Given the description of an element on the screen output the (x, y) to click on. 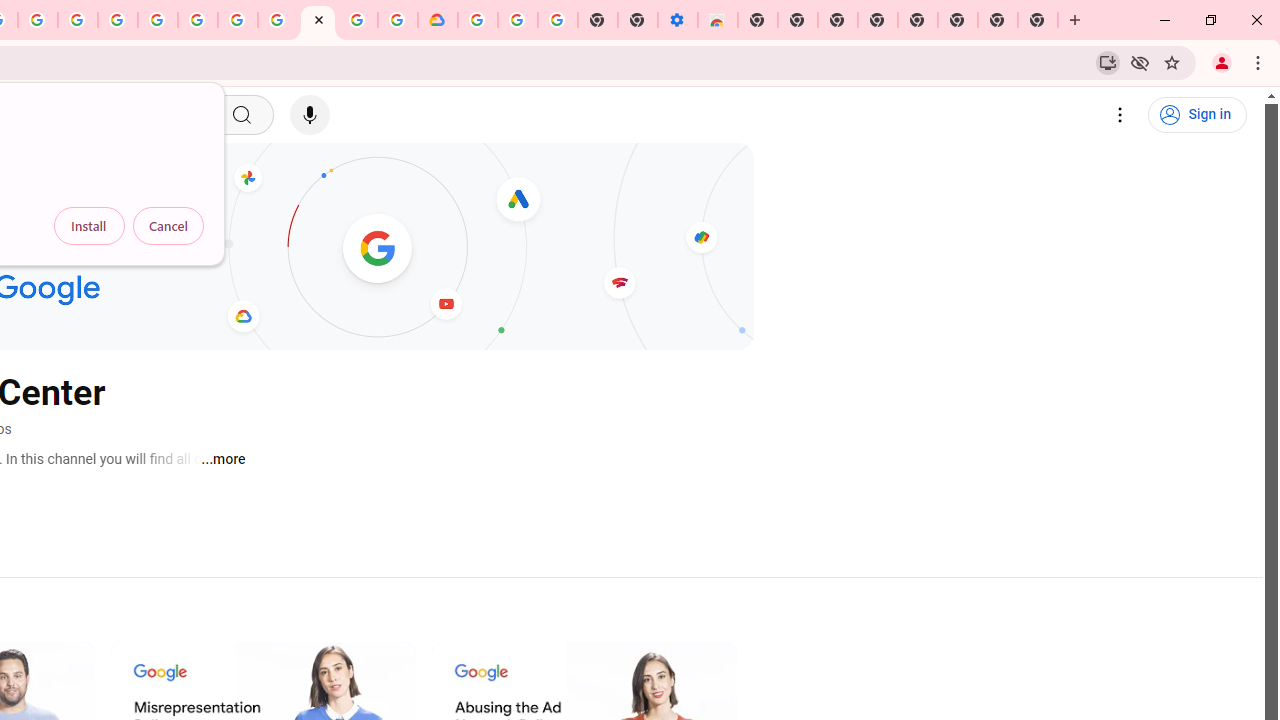
New Tab (758, 20)
Browse the Google Chrome Community - Google Chrome Community (397, 20)
Sign in - Google Accounts (477, 20)
